Given the description of an element on the screen output the (x, y) to click on. 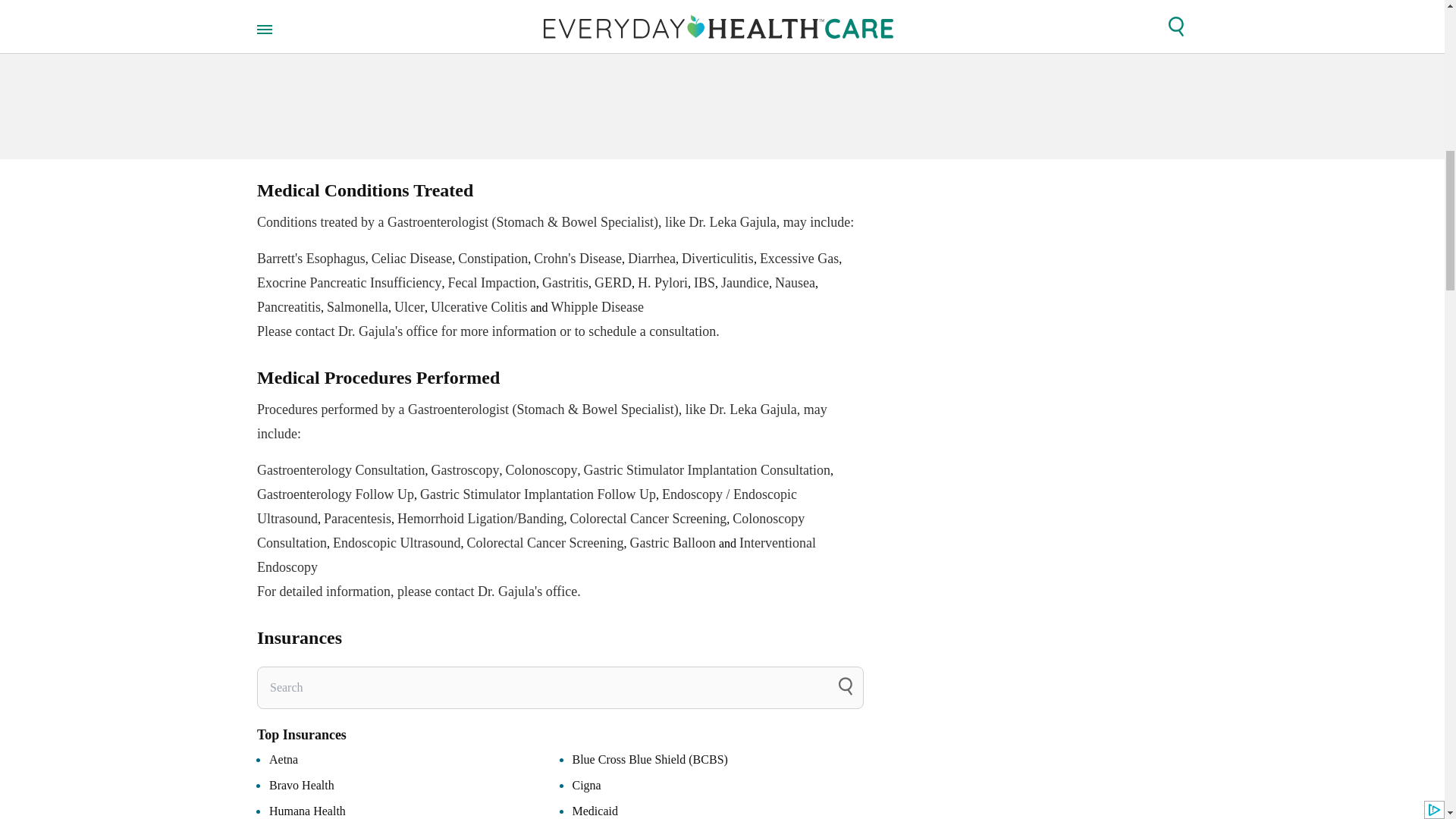
Barrett's Esophagus (311, 258)
IBS (704, 282)
Salmonella (357, 306)
Ulcer (409, 306)
Colonoscopy (540, 469)
Jaundice (744, 282)
H. Pylori (662, 282)
Gastric Stimulator Implantation Consultation (706, 469)
Gastric Stimulator Implantation Follow Up (538, 494)
Gastritis (564, 282)
Pancreatitis (288, 306)
Gastroenterology Follow Up (335, 494)
Exocrine Pancreatic Insufficiency (349, 282)
Gastroscopy (464, 469)
